Given the description of an element on the screen output the (x, y) to click on. 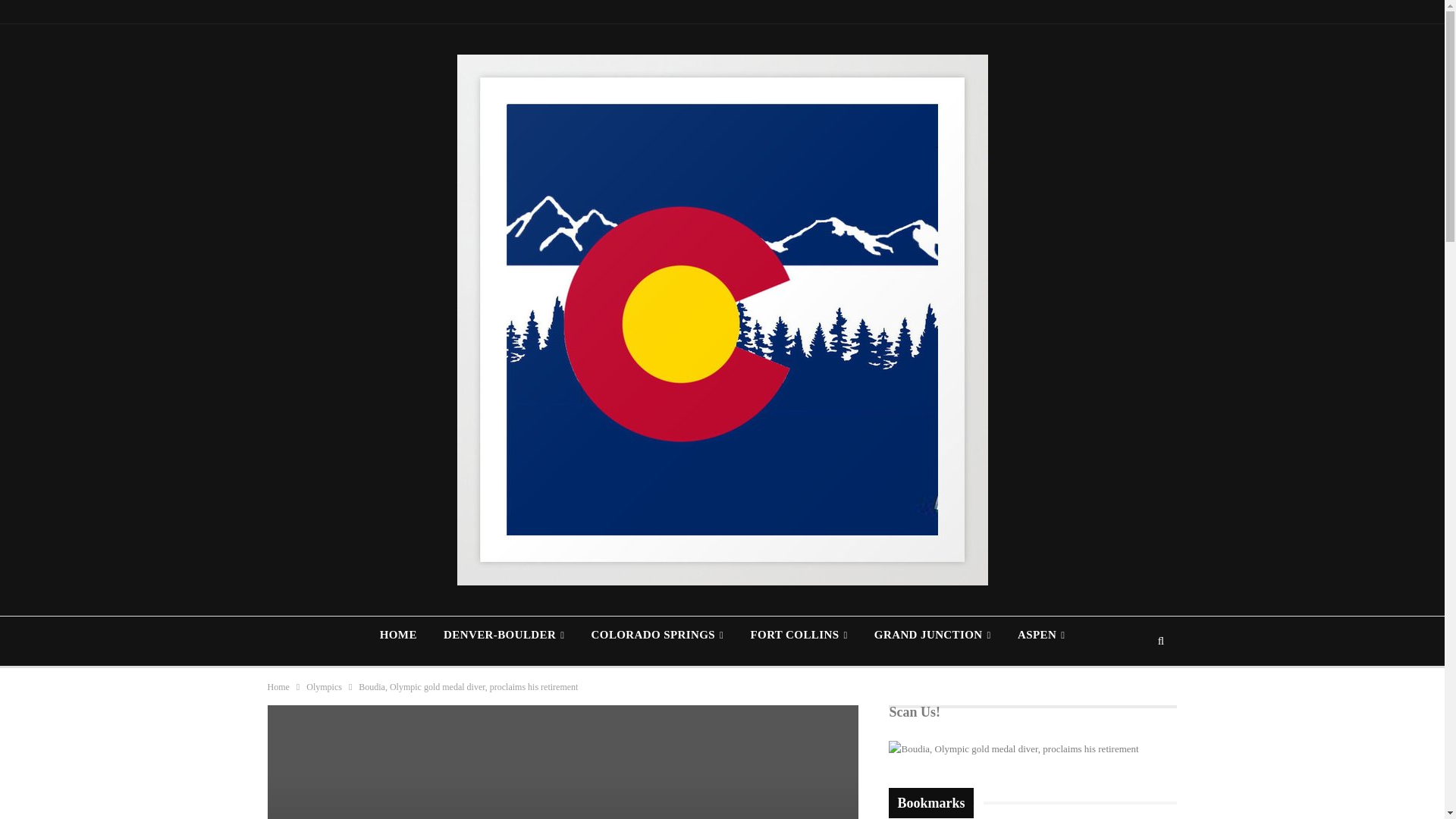
FORT COLLINS (799, 634)
COLORADO SPRINGS (657, 634)
DENVER-BOULDER (503, 634)
HOME (398, 634)
